Given the description of an element on the screen output the (x, y) to click on. 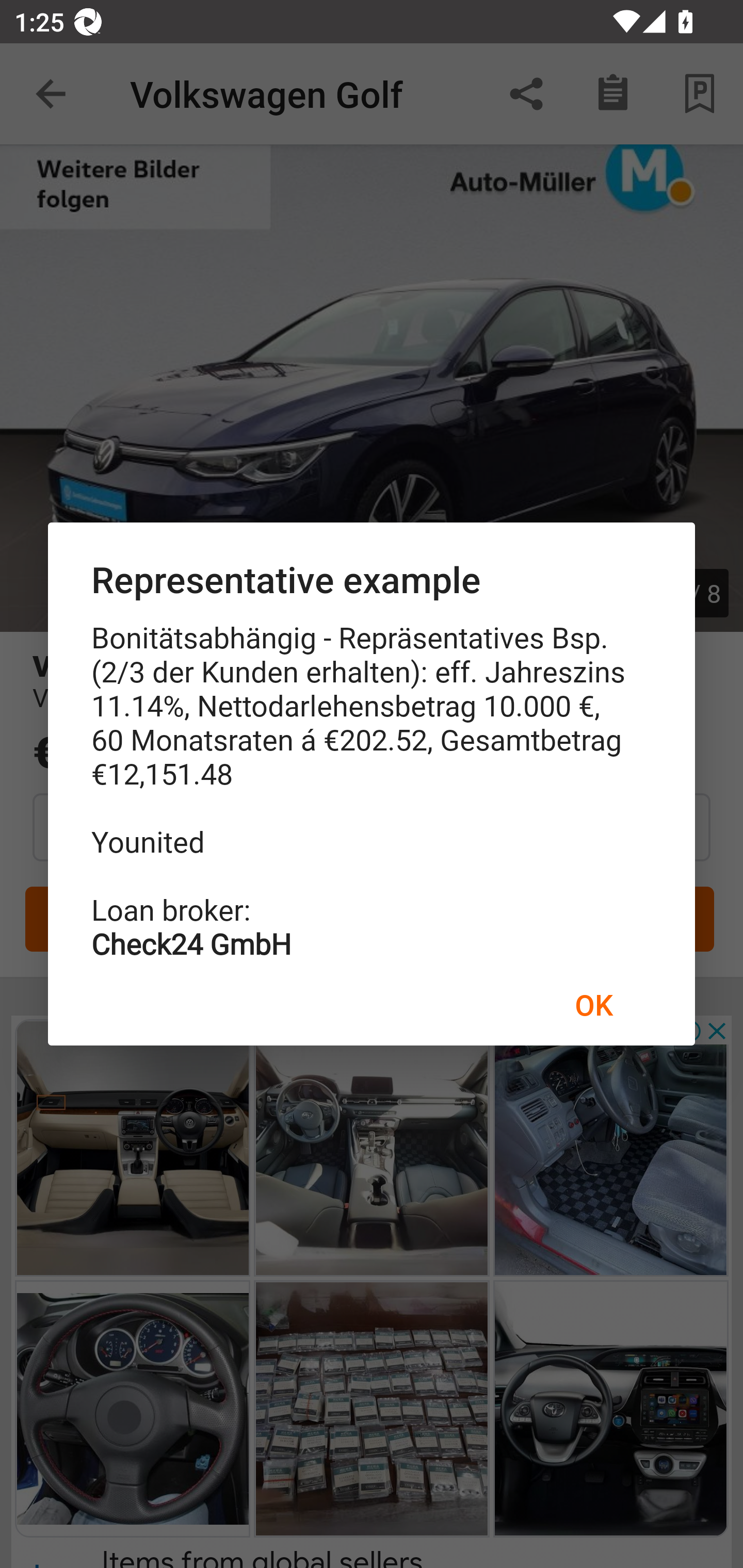
OK (593, 1004)
